Given the description of an element on the screen output the (x, y) to click on. 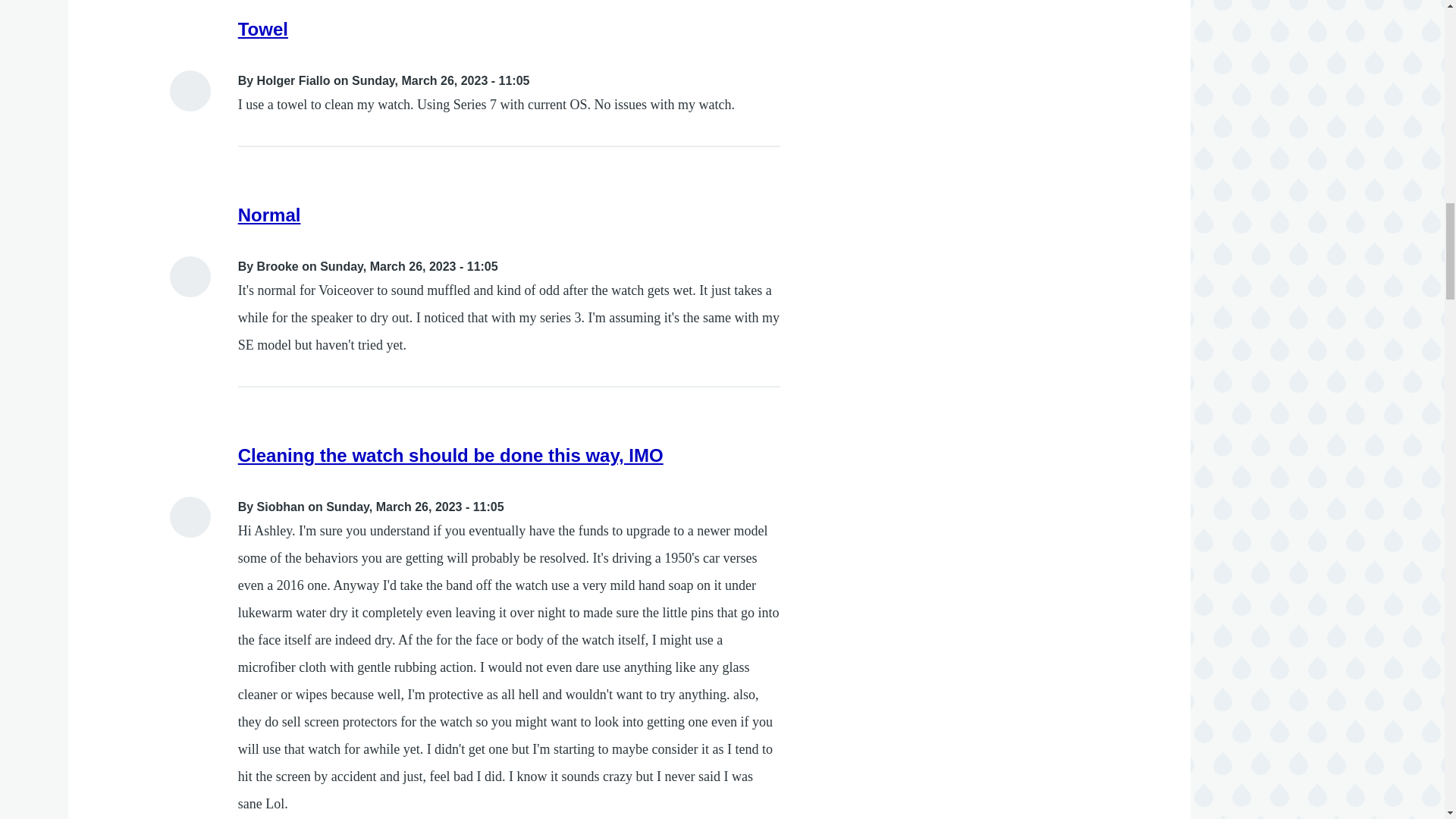
Cleaning the watch should be done this way, IMO (450, 455)
Towel (263, 28)
Normal (269, 214)
